Given the description of an element on the screen output the (x, y) to click on. 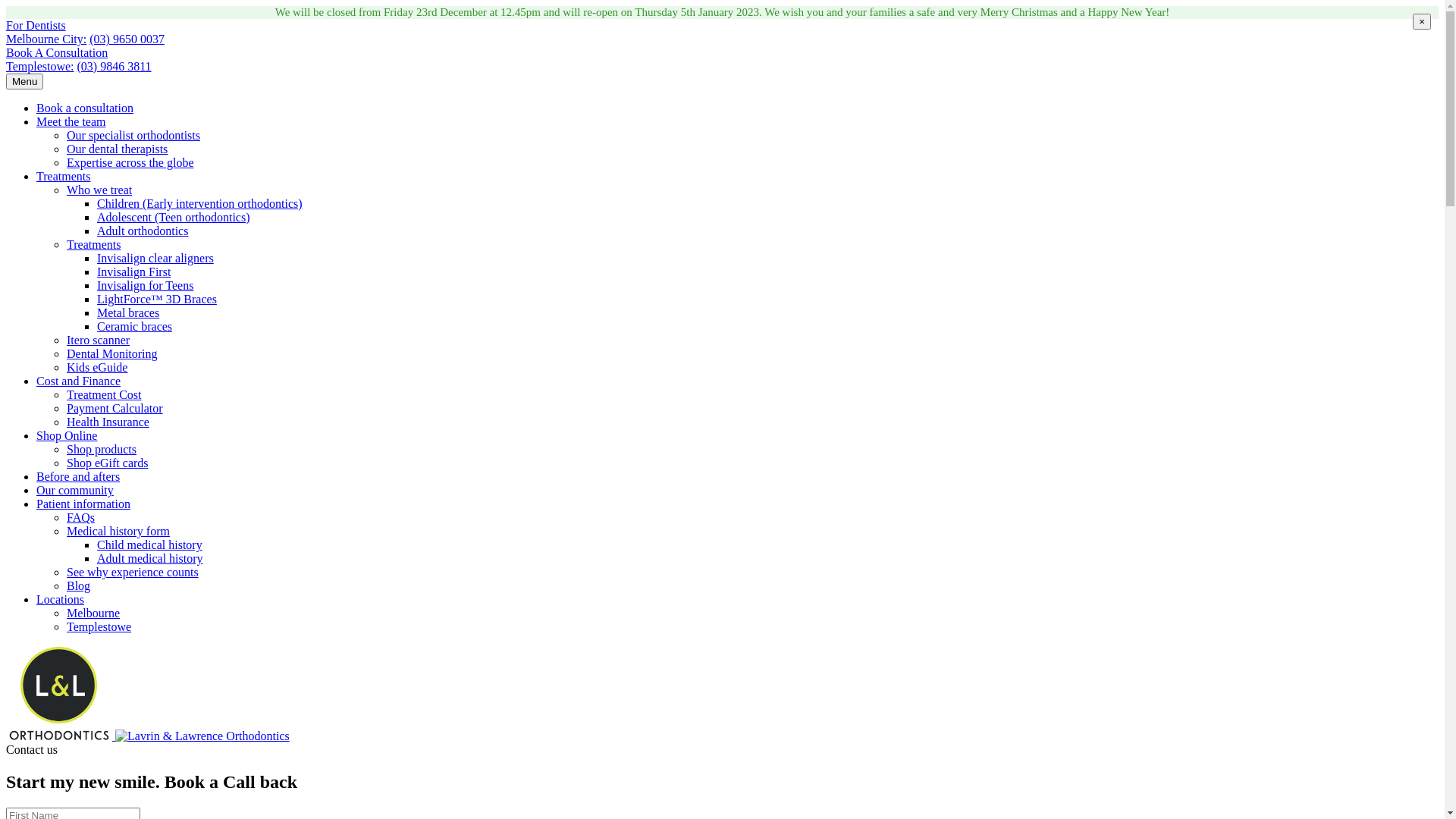
Child medical history Element type: text (149, 544)
Before and afters Element type: text (77, 476)
Children (Early intervention orthodontics) Element type: text (199, 203)
Itero scanner Element type: text (97, 339)
Treatments Element type: text (93, 244)
FAQs Element type: text (80, 517)
Templestowe: Element type: text (40, 65)
Meet the team Element type: text (71, 121)
(03) 9650 0037 Element type: text (126, 38)
Our dental therapists Element type: text (116, 148)
(03) 9846 3811 Element type: text (114, 65)
Shop eGift cards Element type: text (107, 462)
Shop products Element type: text (101, 448)
Patient information Element type: text (83, 503)
Payment Calculator Element type: text (114, 407)
For Dentists Element type: text (35, 24)
Contact us Element type: text (31, 749)
Menu Element type: text (24, 81)
Ceramic braces Element type: text (134, 326)
Dental Monitoring Element type: text (111, 353)
Health Insurance Element type: text (107, 421)
Templestowe Element type: text (98, 626)
Book A Consultation Element type: text (56, 52)
Book a consultation Element type: text (84, 107)
Treatments Element type: text (63, 175)
Invisalign clear aligners Element type: text (155, 257)
Invisalign for Teens Element type: text (145, 285)
Expertise across the globe Element type: text (130, 162)
Melbourne Element type: text (92, 612)
Who we treat Element type: text (98, 189)
Adolescent (Teen orthodontics) Element type: text (173, 216)
Our specialist orthodontists Element type: text (133, 134)
Adult medical history Element type: text (150, 558)
Metal braces Element type: text (128, 312)
Cost and Finance Element type: text (78, 380)
Invisalign First Element type: text (133, 271)
Medical history form Element type: text (117, 530)
Kids eGuide Element type: text (96, 366)
Treatment Cost Element type: text (103, 394)
Locations Element type: text (60, 599)
Shop Online Element type: text (66, 435)
Our community Element type: text (74, 489)
Melbourne City: Element type: text (46, 38)
See why experience counts Element type: text (132, 571)
Blog Element type: text (78, 585)
Adult orthodontics Element type: text (142, 230)
